Given the description of an element on the screen output the (x, y) to click on. 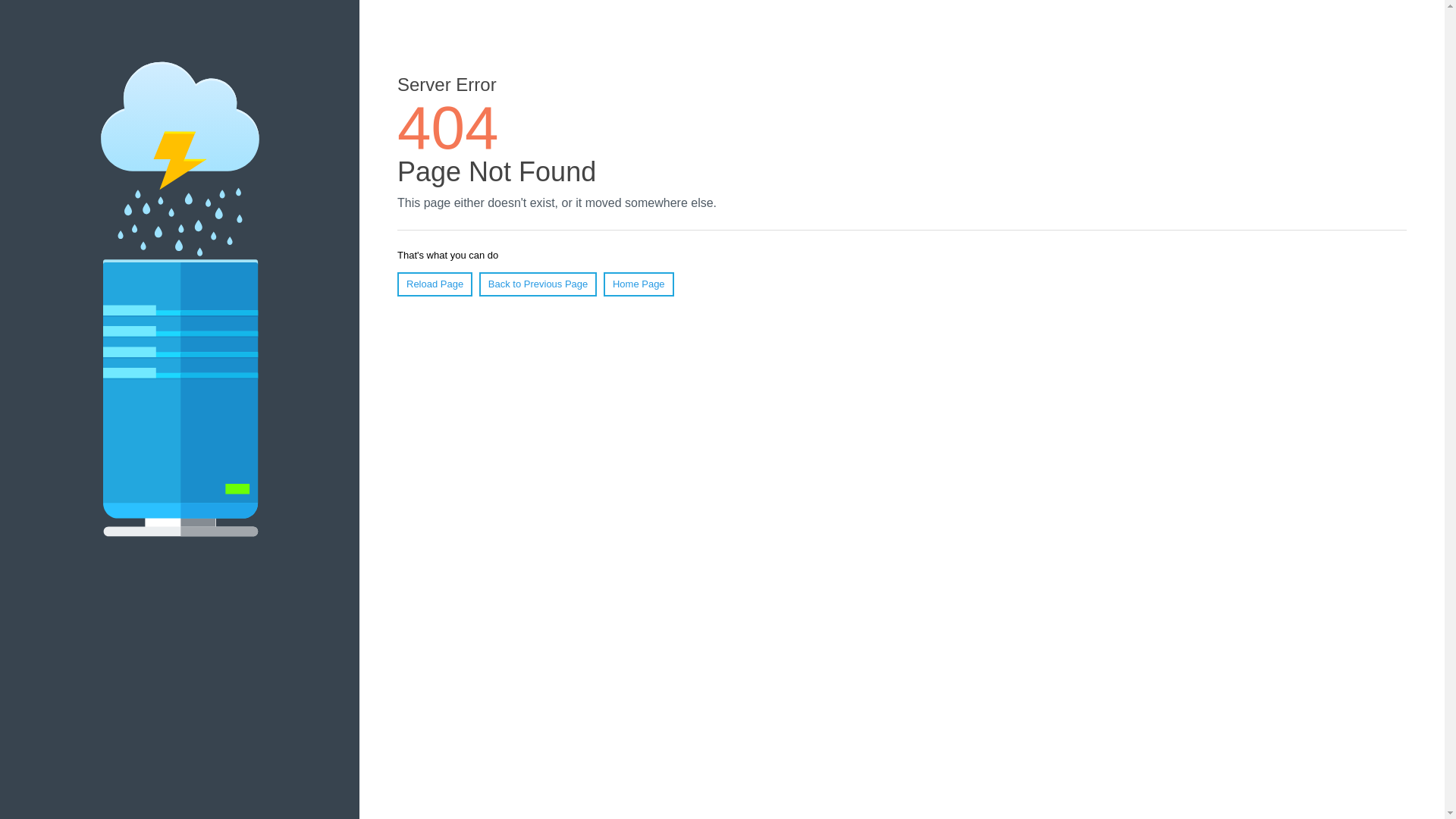
Back to Previous Page Element type: text (538, 284)
Home Page Element type: text (638, 284)
Reload Page Element type: text (434, 284)
